Given the description of an element on the screen output the (x, y) to click on. 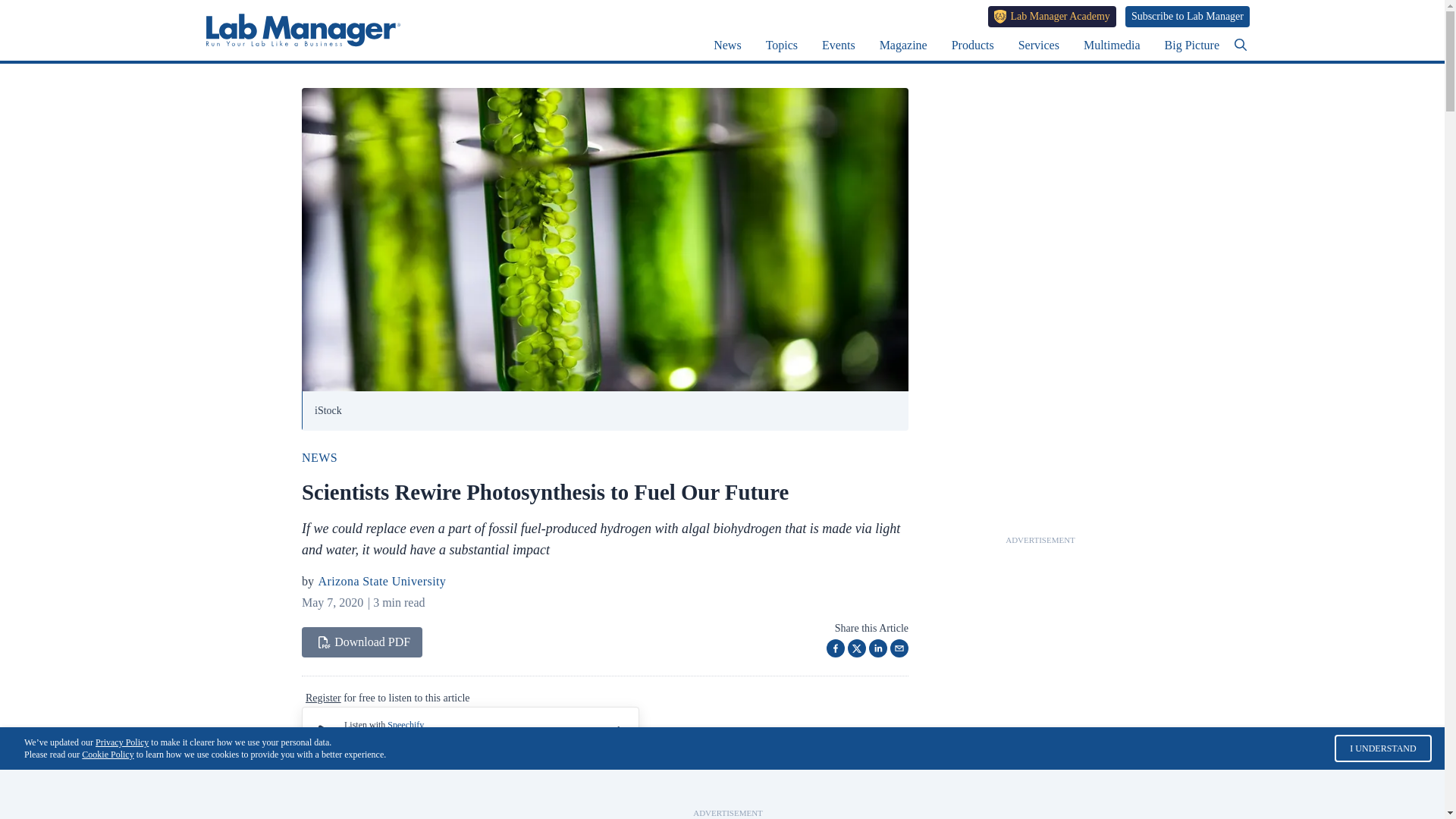
News (726, 45)
3rd party ad content (1040, 814)
Lab Manager Academy (1052, 16)
3rd party ad content (728, 789)
Subscribe to Lab Manager (1187, 16)
Topics (781, 45)
